Given the description of an element on the screen output the (x, y) to click on. 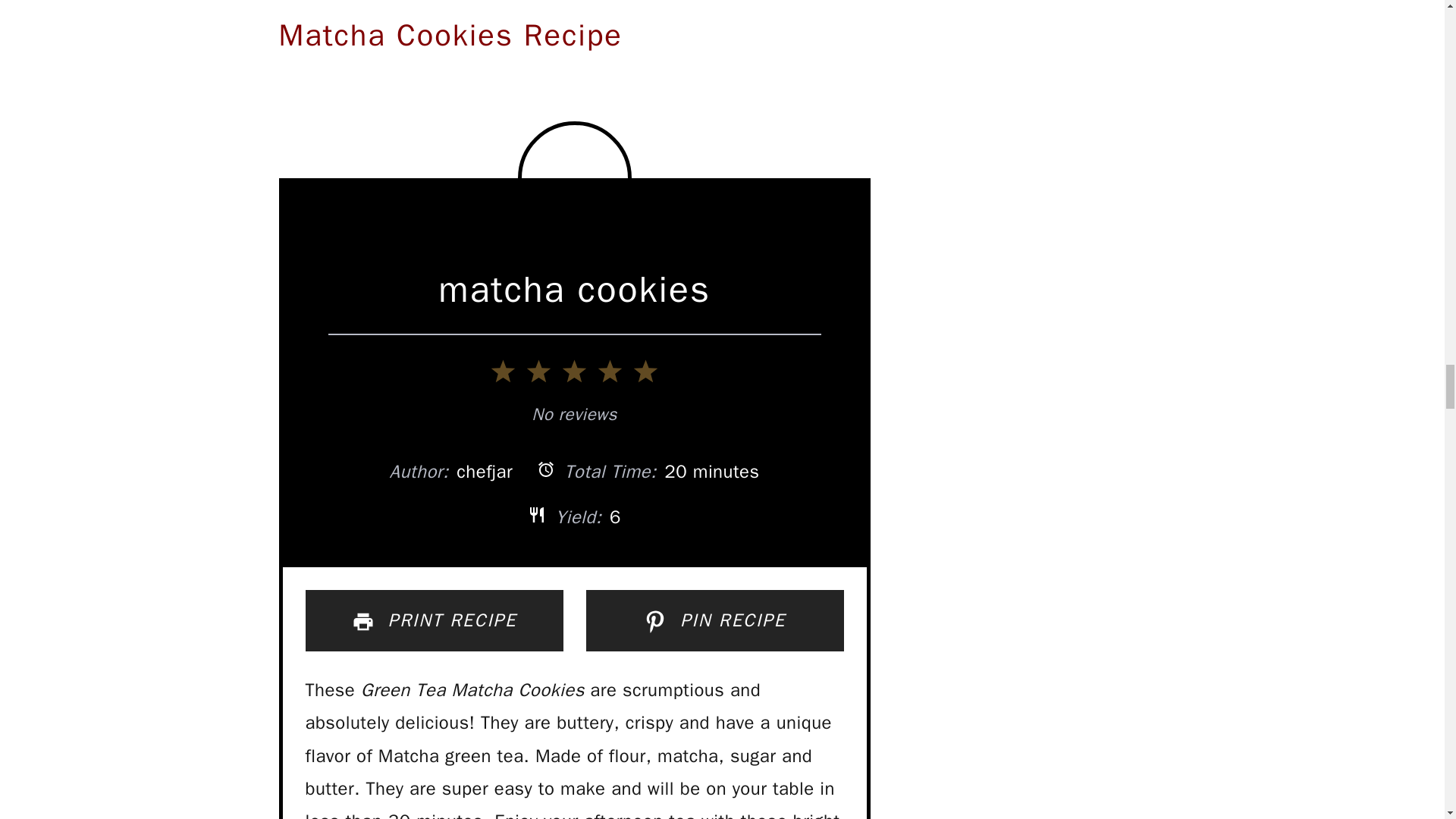
PIN RECIPE (714, 620)
PRINT RECIPE (433, 620)
